Given the description of an element on the screen output the (x, y) to click on. 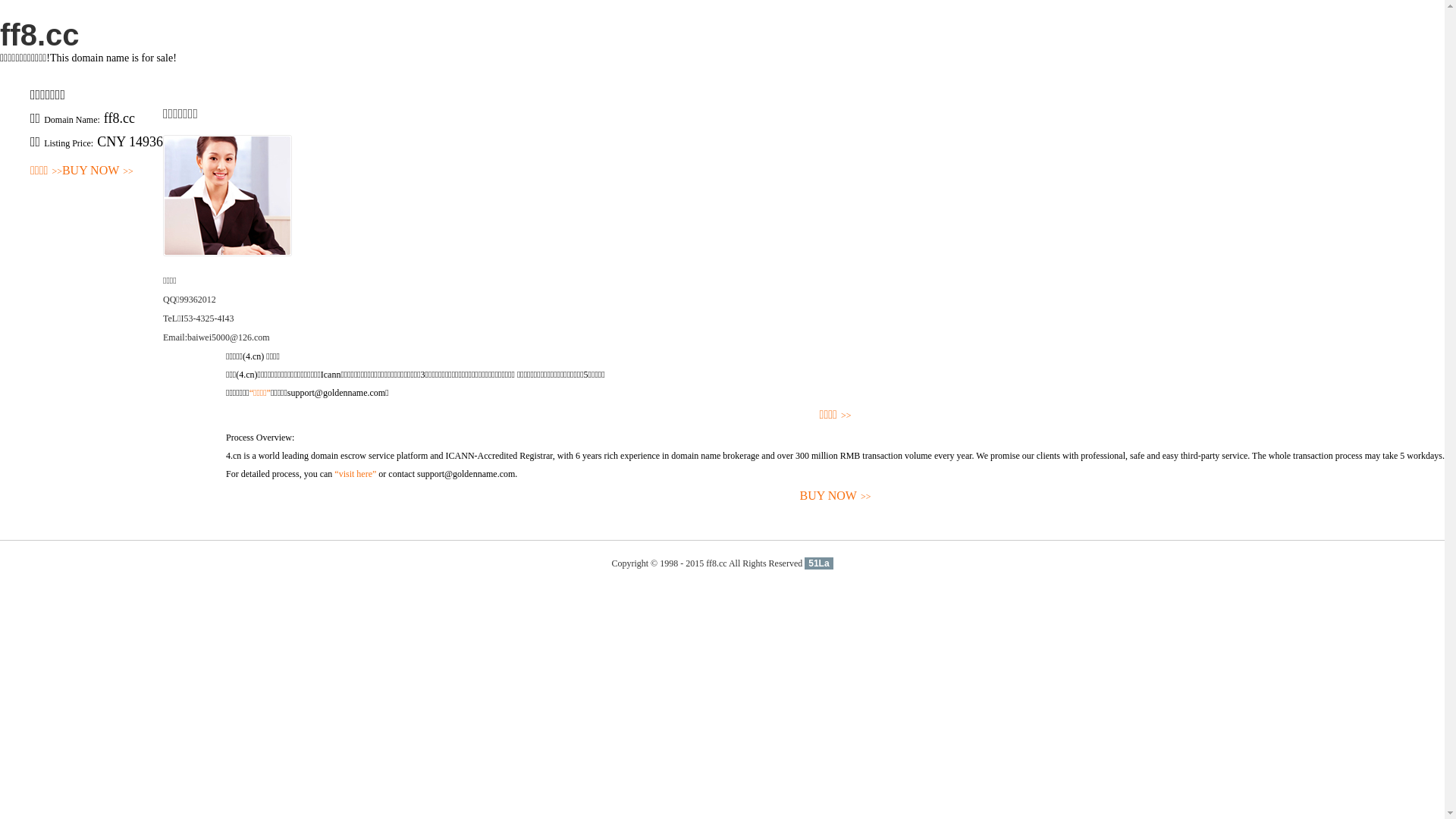
BUY NOW>> Element type: text (834, 496)
BUY NOW>> Element type: text (97, 170)
51La Element type: text (818, 563)
